Given the description of an element on the screen output the (x, y) to click on. 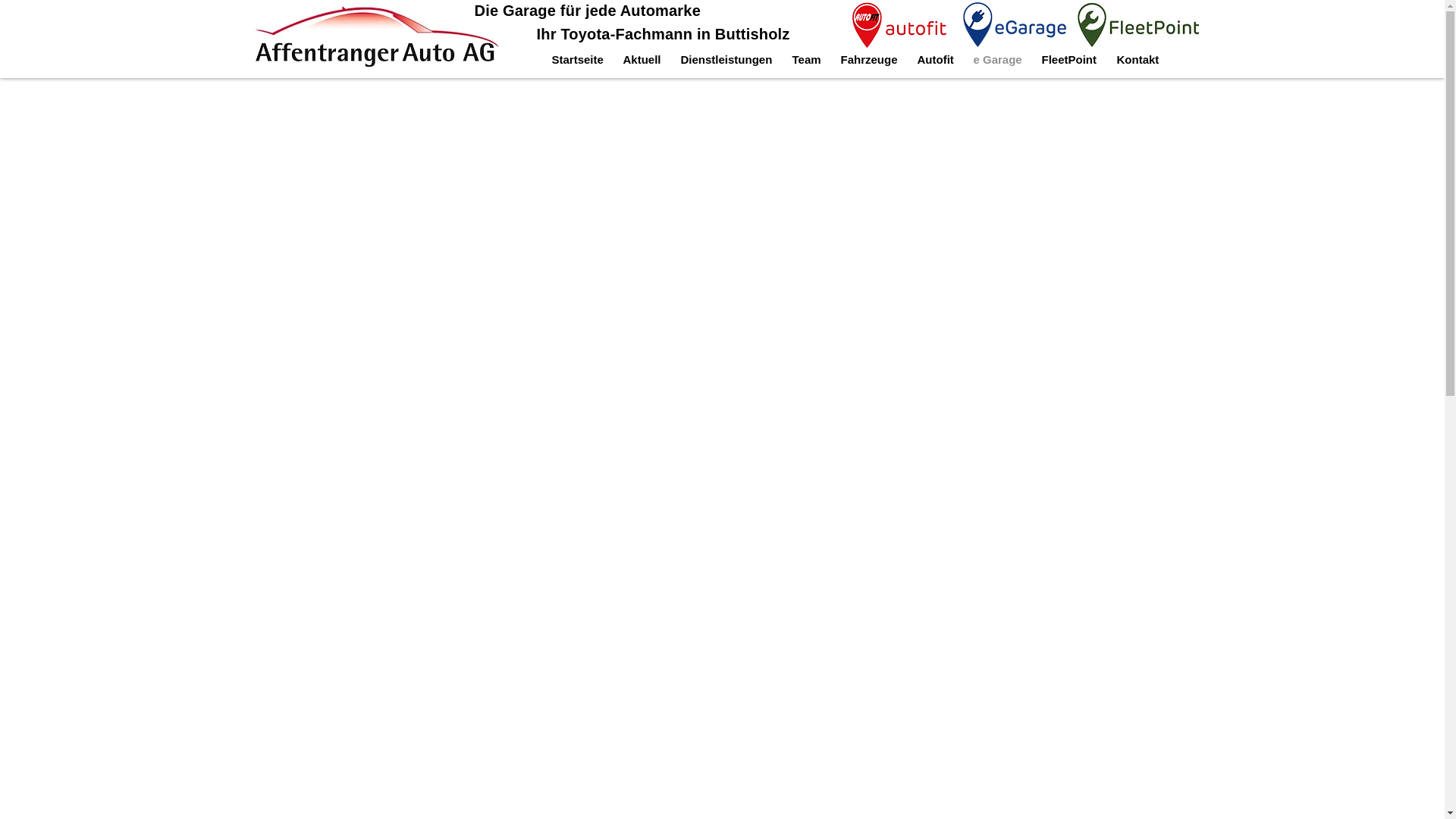
Kontakt Element type: text (1138, 59)
Aktuell Element type: text (641, 59)
Autofit Element type: text (934, 59)
FleetPoint Element type: text (1068, 59)
e Garage Element type: text (997, 59)
Startseite Element type: text (576, 59)
Team Element type: text (806, 59)
Fahrzeuge Element type: text (869, 59)
Dienstleistungen Element type: text (725, 59)
